Given the description of an element on the screen output the (x, y) to click on. 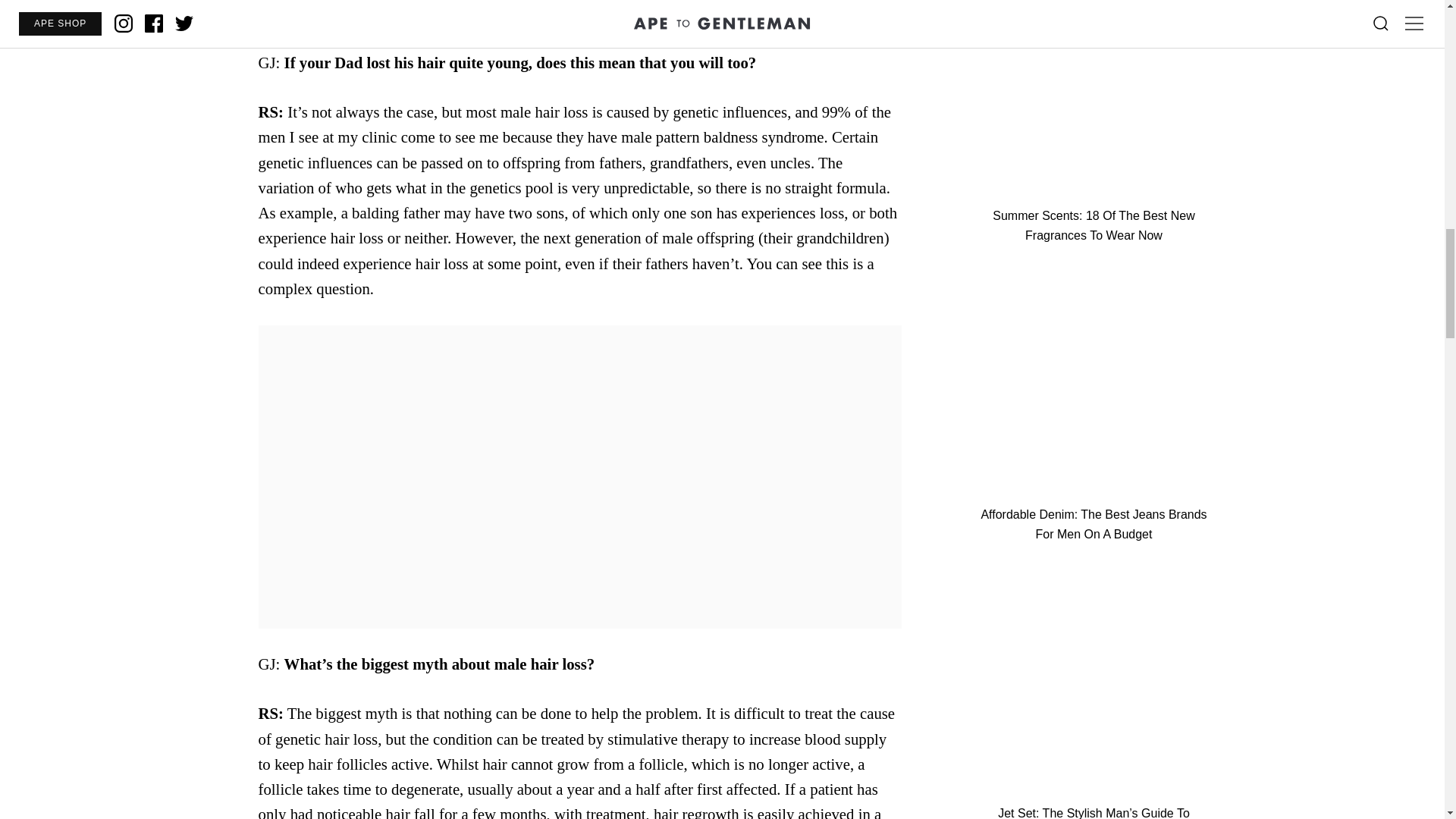
Summer Scents: 18 Of The Best New Fragrances To Wear Now (1093, 122)
